Given the description of an element on the screen output the (x, y) to click on. 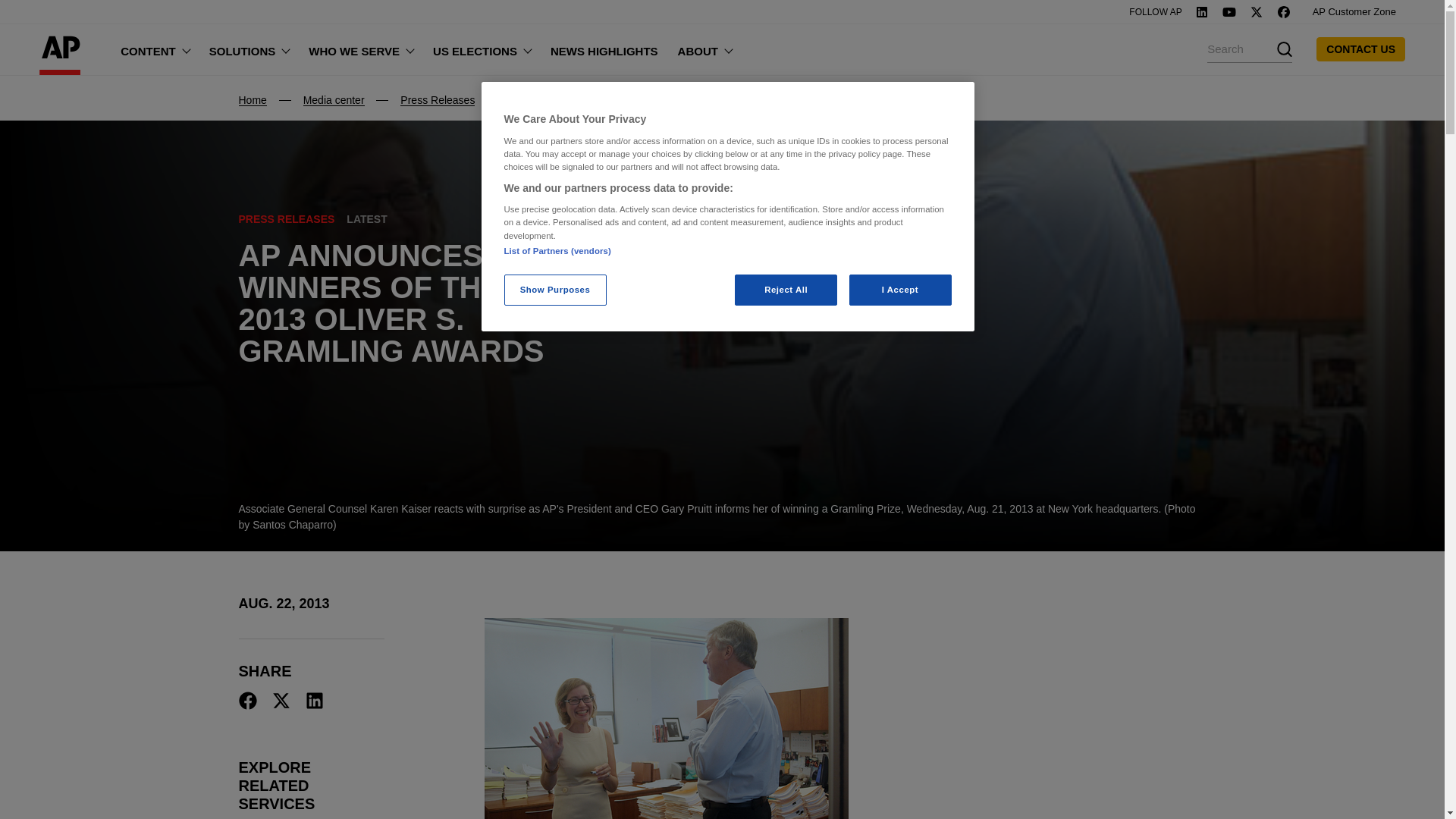
Share on LinkedIn (313, 700)
Twitter (1256, 11)
Linkedin (1201, 11)
AP Customer Zone (1354, 11)
Share on Facebook (247, 700)
Youtube (1228, 11)
CONTENT (154, 49)
Share on Twitter (279, 700)
Facebook (1283, 11)
SOLUTIONS (249, 49)
